Given the description of an element on the screen output the (x, y) to click on. 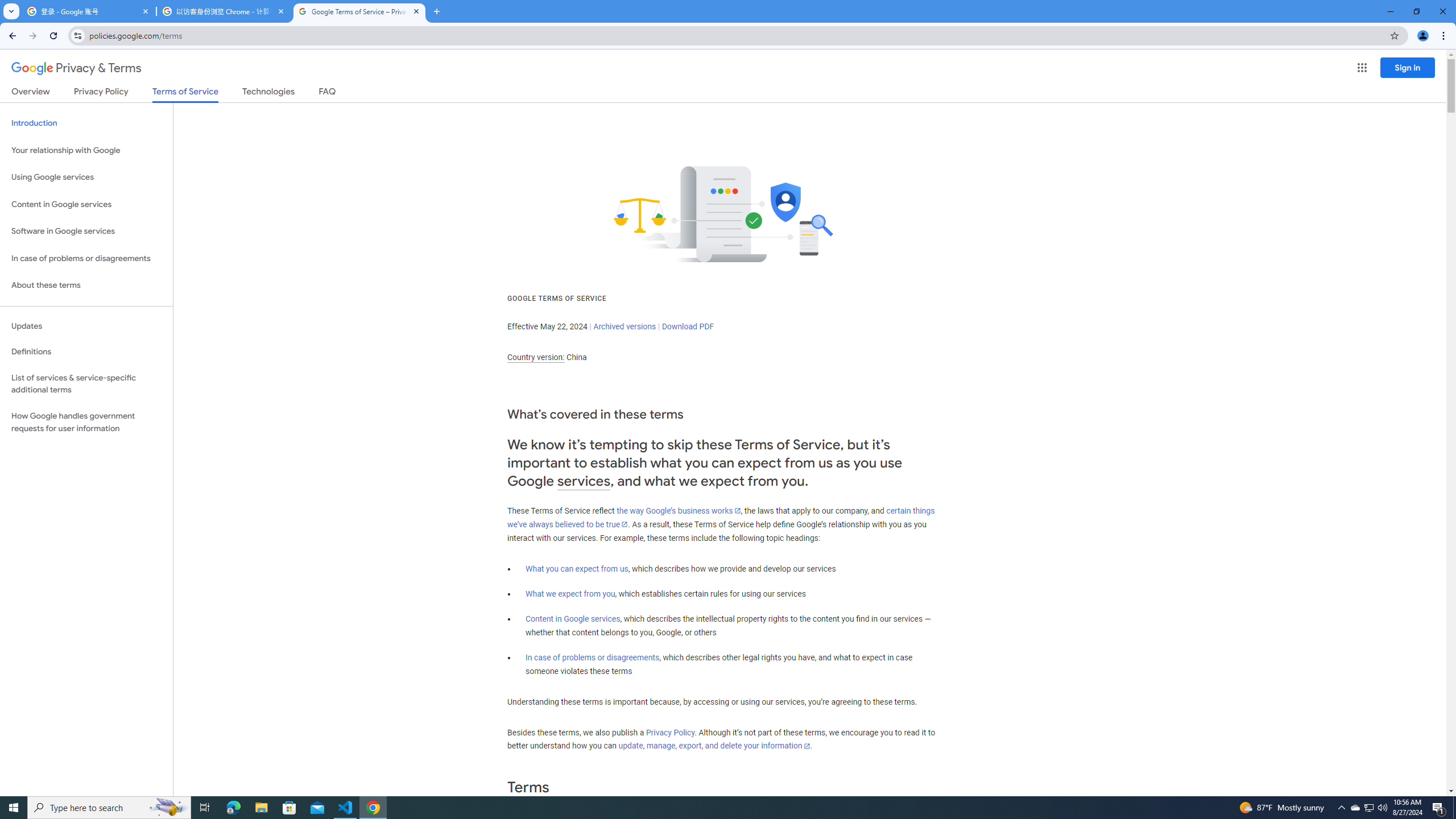
How Google handles government requests for user information (86, 422)
Your relationship with Google (86, 150)
Country version: (535, 357)
